Given the description of an element on the screen output the (x, y) to click on. 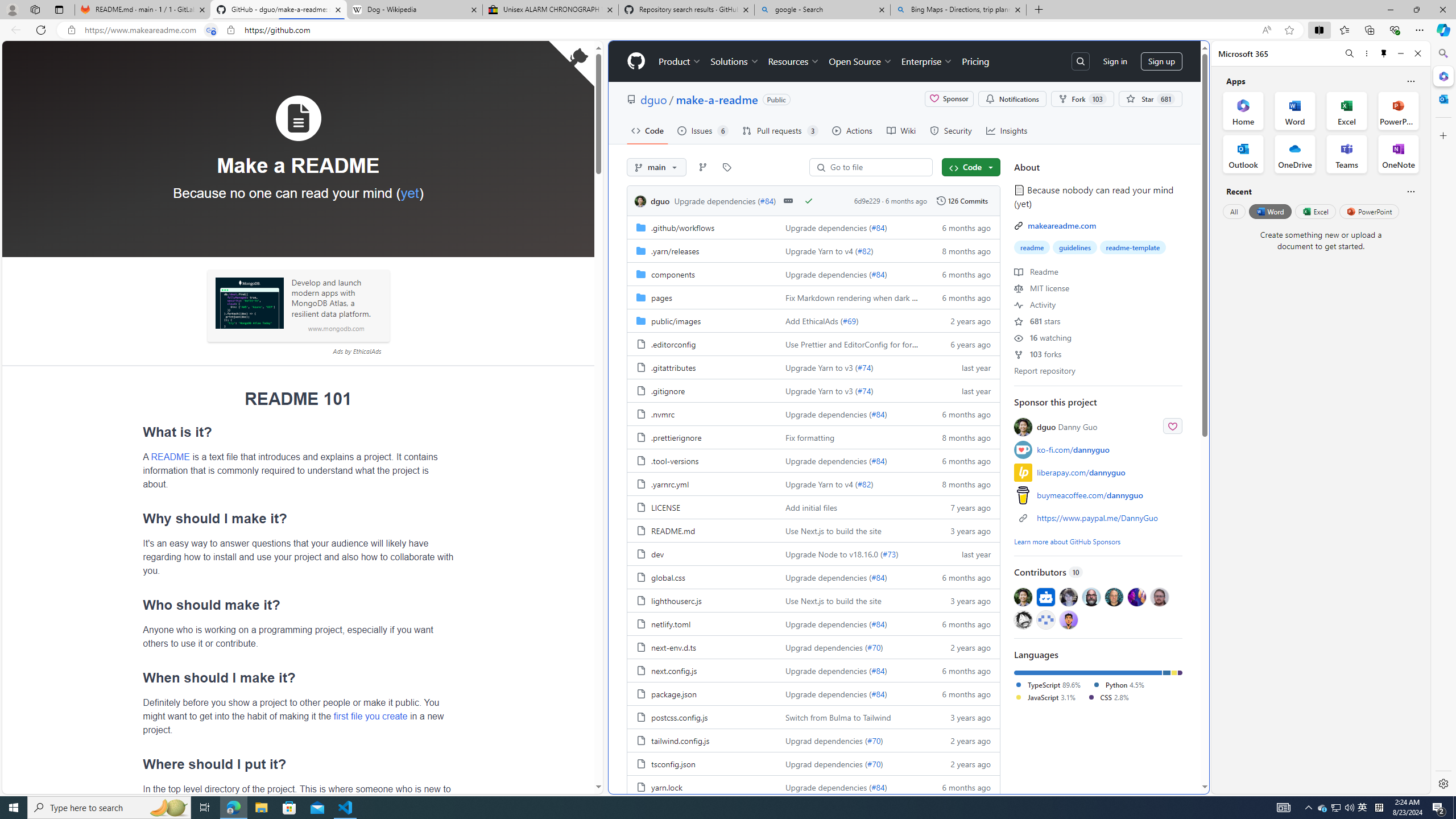
buy_me_a_coffee (1022, 494)
Add EthicalAds ( (813, 320)
@dependabot[bot] (1045, 596)
Resources (793, 60)
Add EthicalAds (#69) (849, 320)
Class: Box-sc-g0xbh4-0 jEbBOT (813, 200)
ko-fi.com/dannyguo (1097, 449)
@sy-records (1022, 619)
Upgrade Yarn to v3 ( (820, 390)
Open commit details (788, 200)
next.config.js, (File) (701, 670)
.prettierignore, (File) (701, 436)
#82 (863, 483)
Contributors 10 (1097, 572)
AutomationID: folder-row-2 (813, 273)
